Given the description of an element on the screen output the (x, y) to click on. 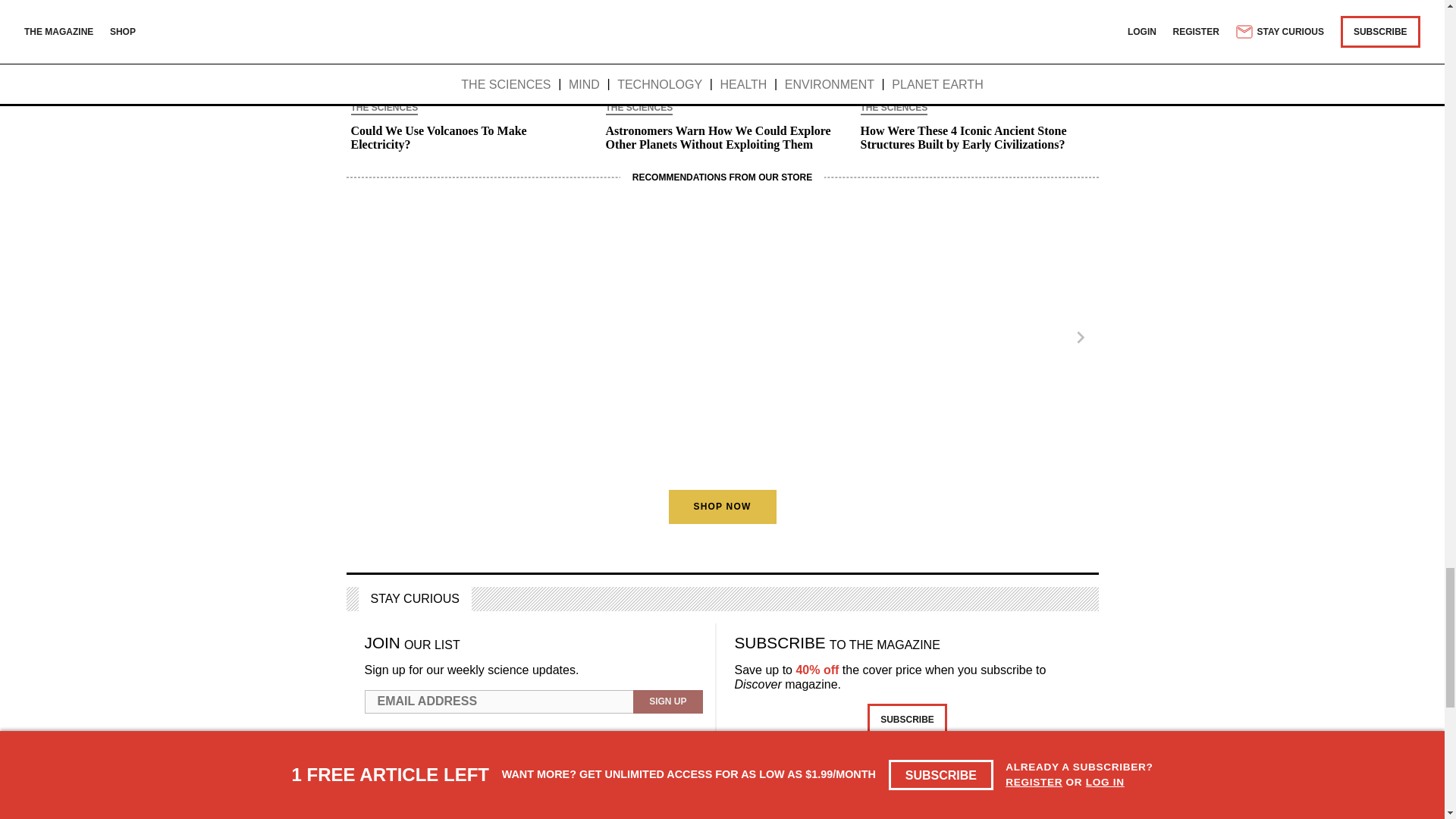
THE SCIENCES (383, 109)
THE SCIENCES (893, 109)
THE SCIENCES (638, 109)
Could We Use Volcanoes To Make Electricity? (466, 138)
